Given the description of an element on the screen output the (x, y) to click on. 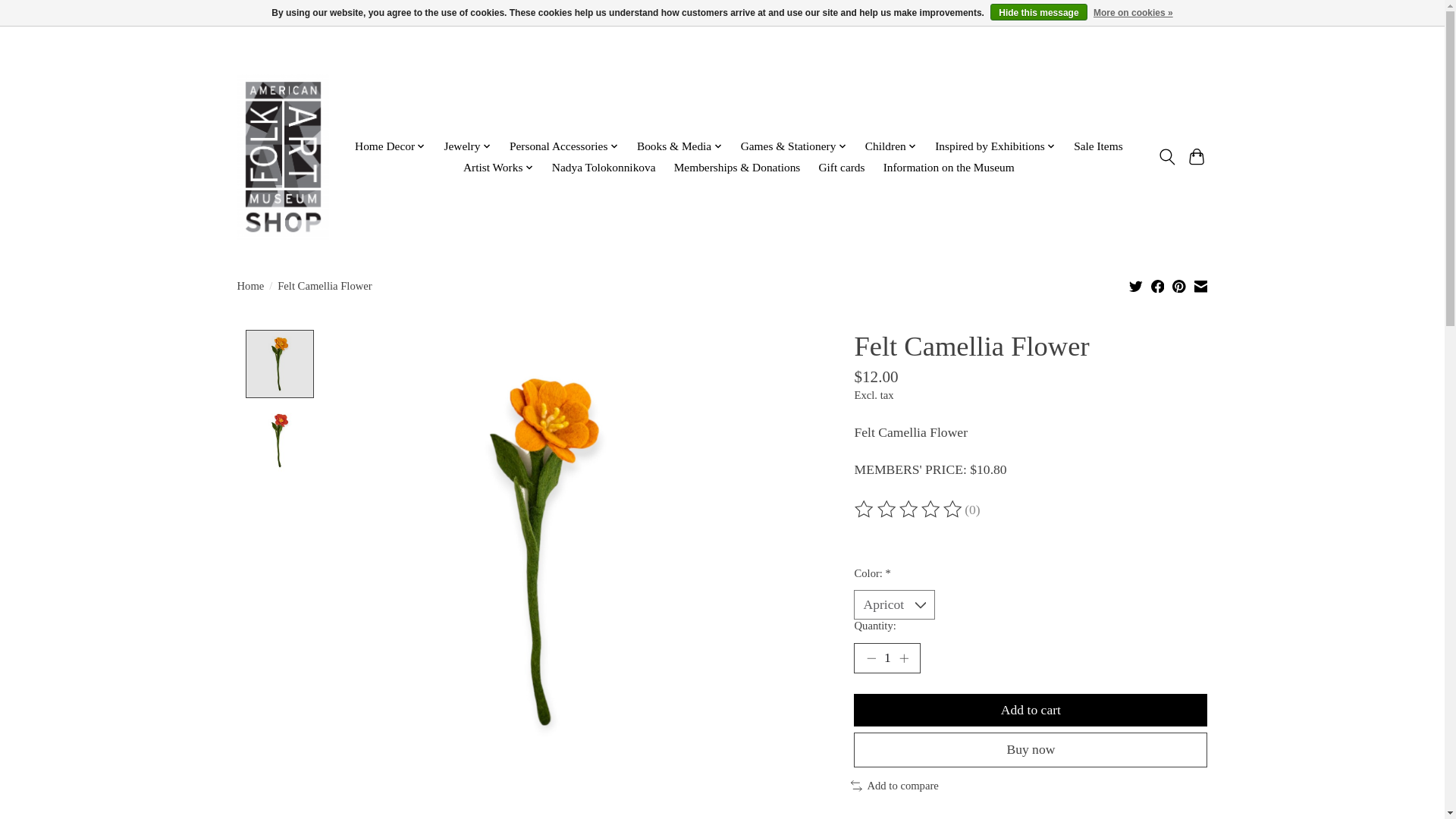
Home Decor (389, 147)
Personal Accessories (563, 147)
1 (886, 657)
My account (1173, 55)
Jewelry (467, 147)
